Given the description of an element on the screen output the (x, y) to click on. 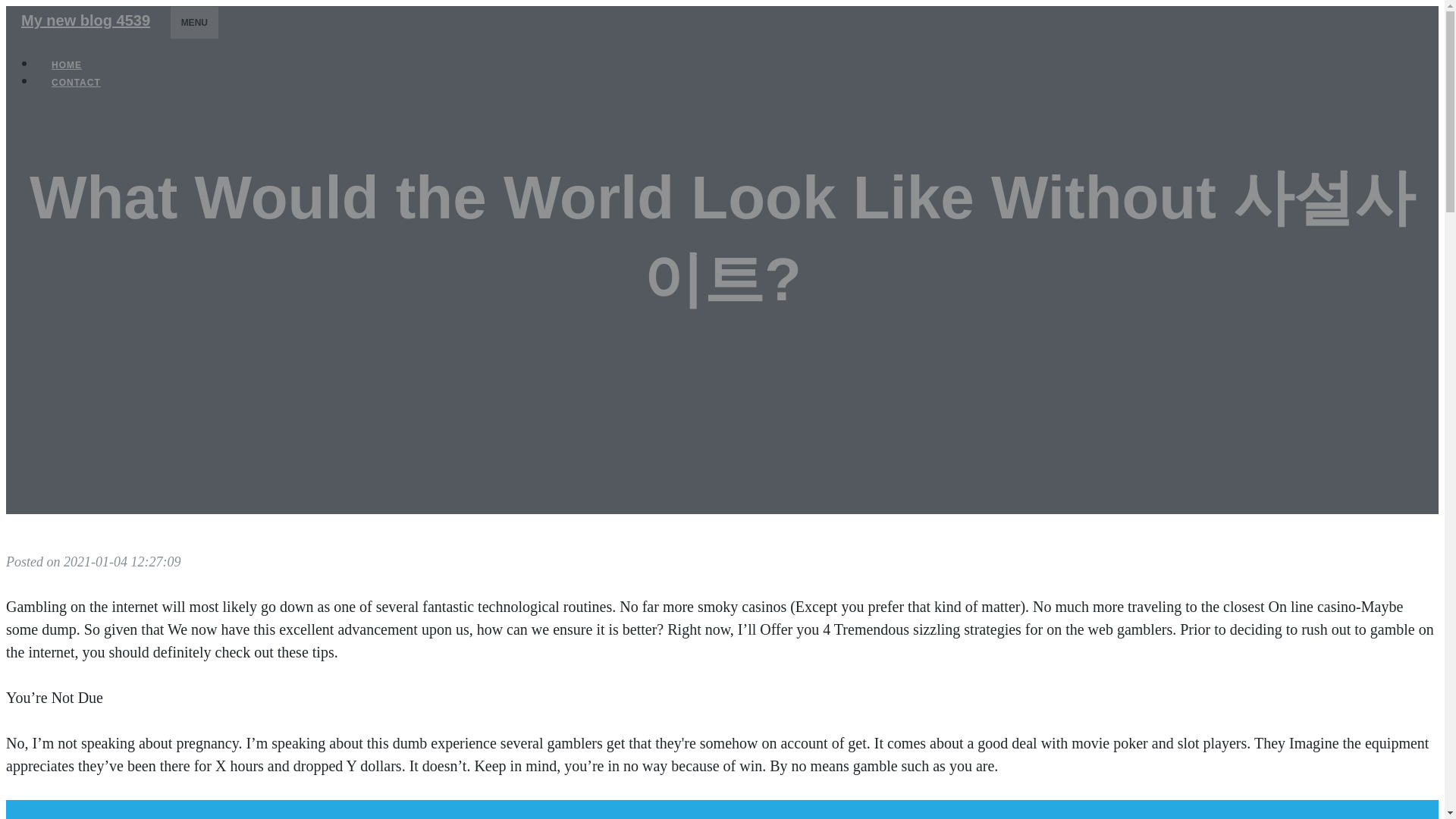
HOME (66, 64)
CONTACT (76, 82)
My new blog 4539 (85, 20)
MENU (194, 22)
